Given the description of an element on the screen output the (x, y) to click on. 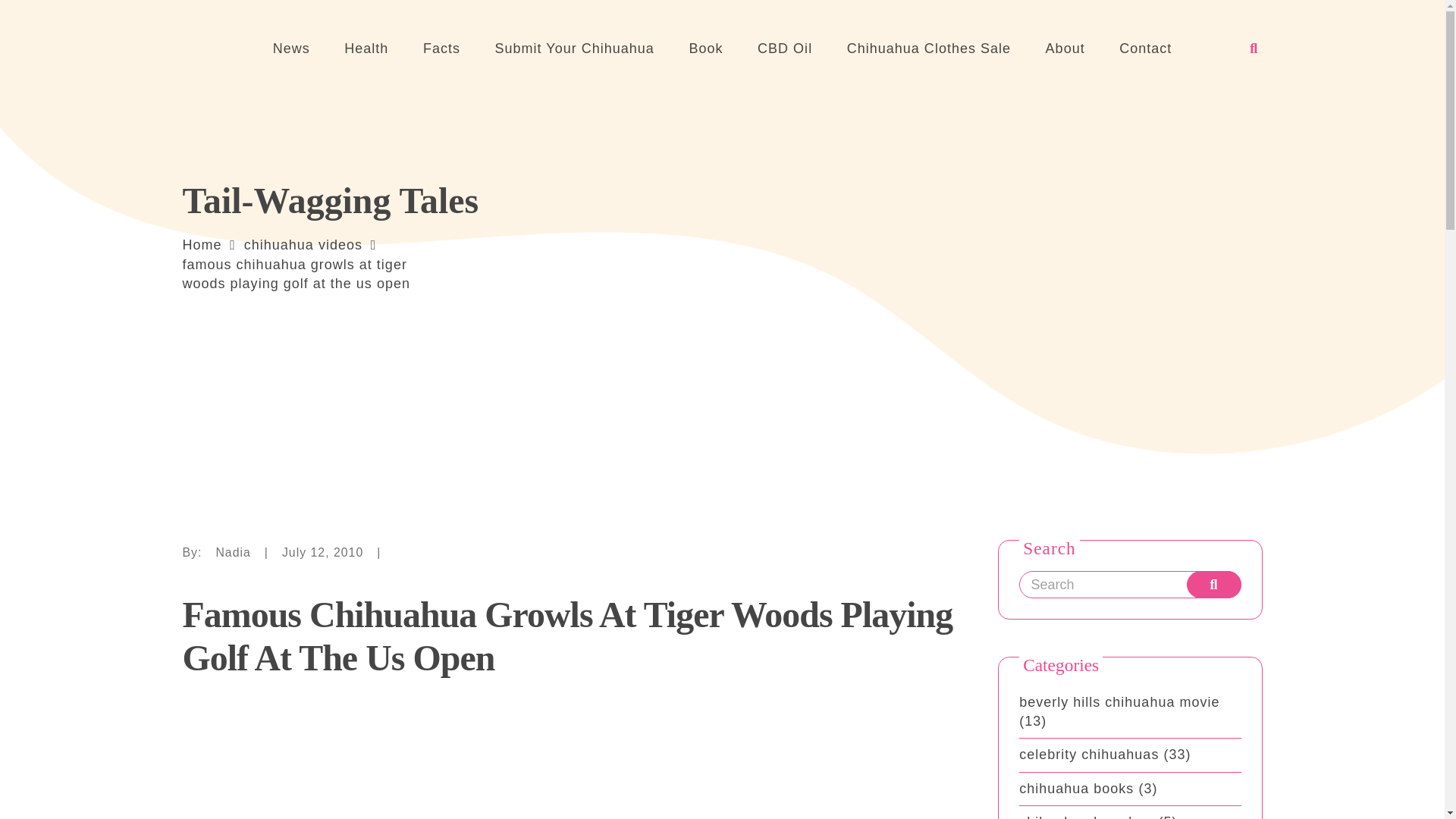
celebrity chihuahuas (1088, 754)
Facts (441, 48)
Contact Famous Chihuahua (1145, 48)
Chihuahua News (291, 48)
Chihuahua Facts (441, 48)
Chihuahua Clothes Sale (928, 48)
Contact (1145, 48)
Organic CBD Hemp Oil For Chihuahuas (784, 48)
chihuahua videos (303, 244)
Submit Your Chihuahua (575, 48)
beverly hills chihuahua movie (1119, 702)
Chihuahua Book (705, 48)
CBD Oil (784, 48)
chihuahua books (1076, 788)
